Given the description of an element on the screen output the (x, y) to click on. 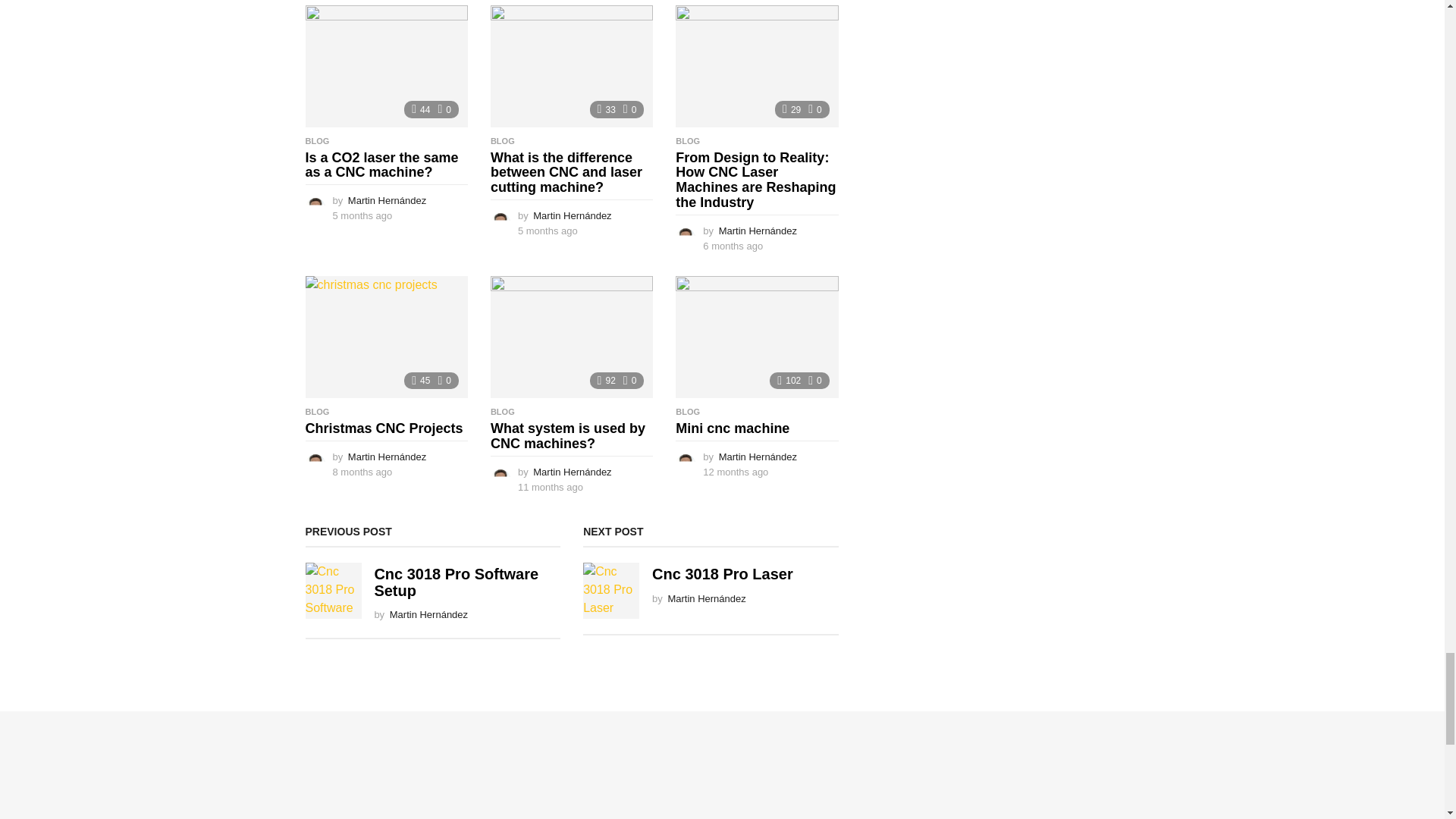
Is a CO2 laser the same as a CNC machine? (385, 65)
